Given the description of an element on the screen output the (x, y) to click on. 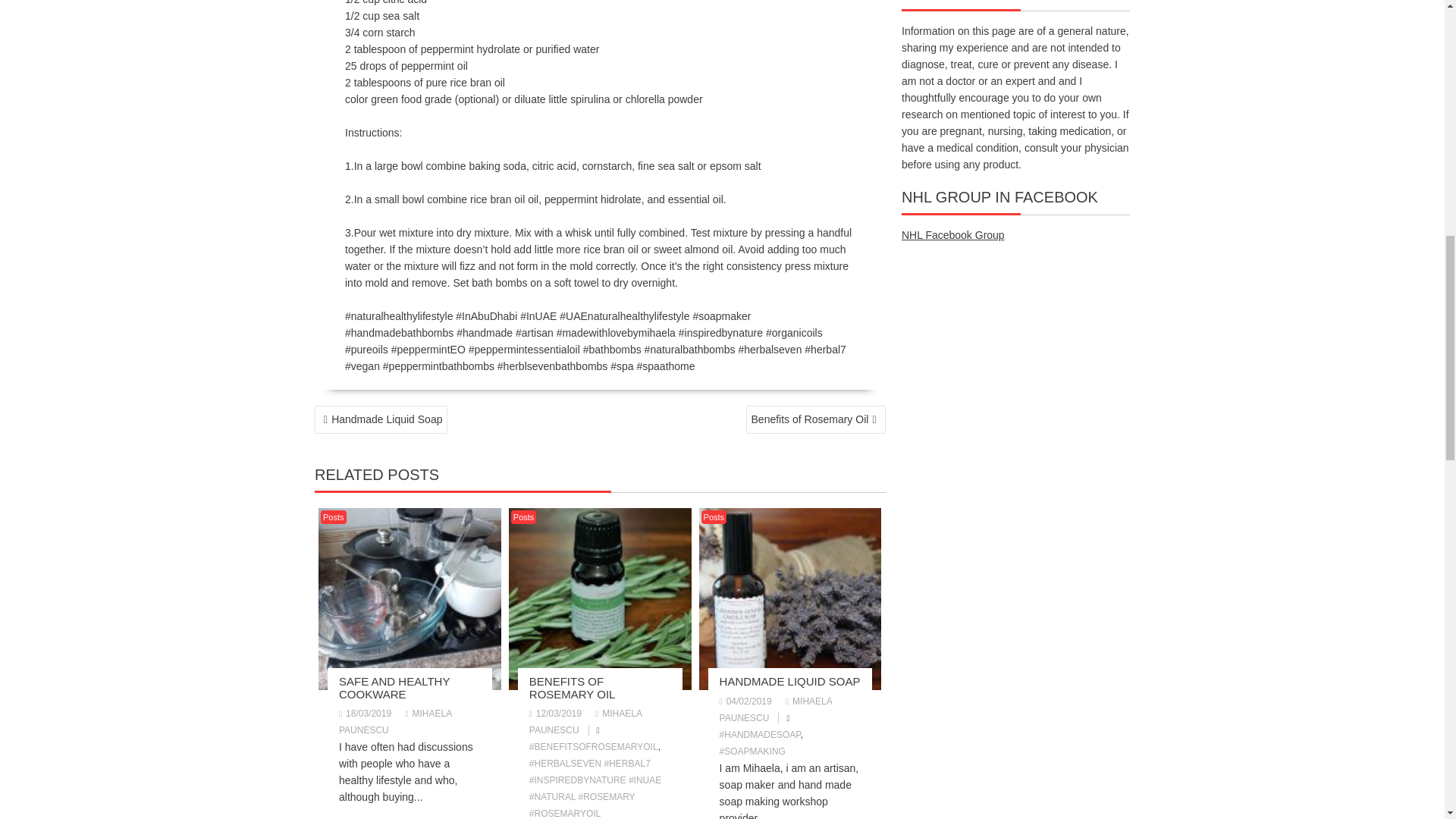
Posts (333, 517)
MIHAELA PAUNESCU (395, 721)
HANDMADE LIQUID SOAP (789, 680)
Benefits of Rosemary Oil (815, 419)
Posts (524, 517)
MIHAELA PAUNESCU (585, 721)
BENEFITS OF ROSEMARY OIL (572, 687)
SAFE AND HEALTHY COOKWARE (394, 687)
Handmade Liquid Soap (380, 419)
MIHAELA PAUNESCU (775, 709)
